Given the description of an element on the screen output the (x, y) to click on. 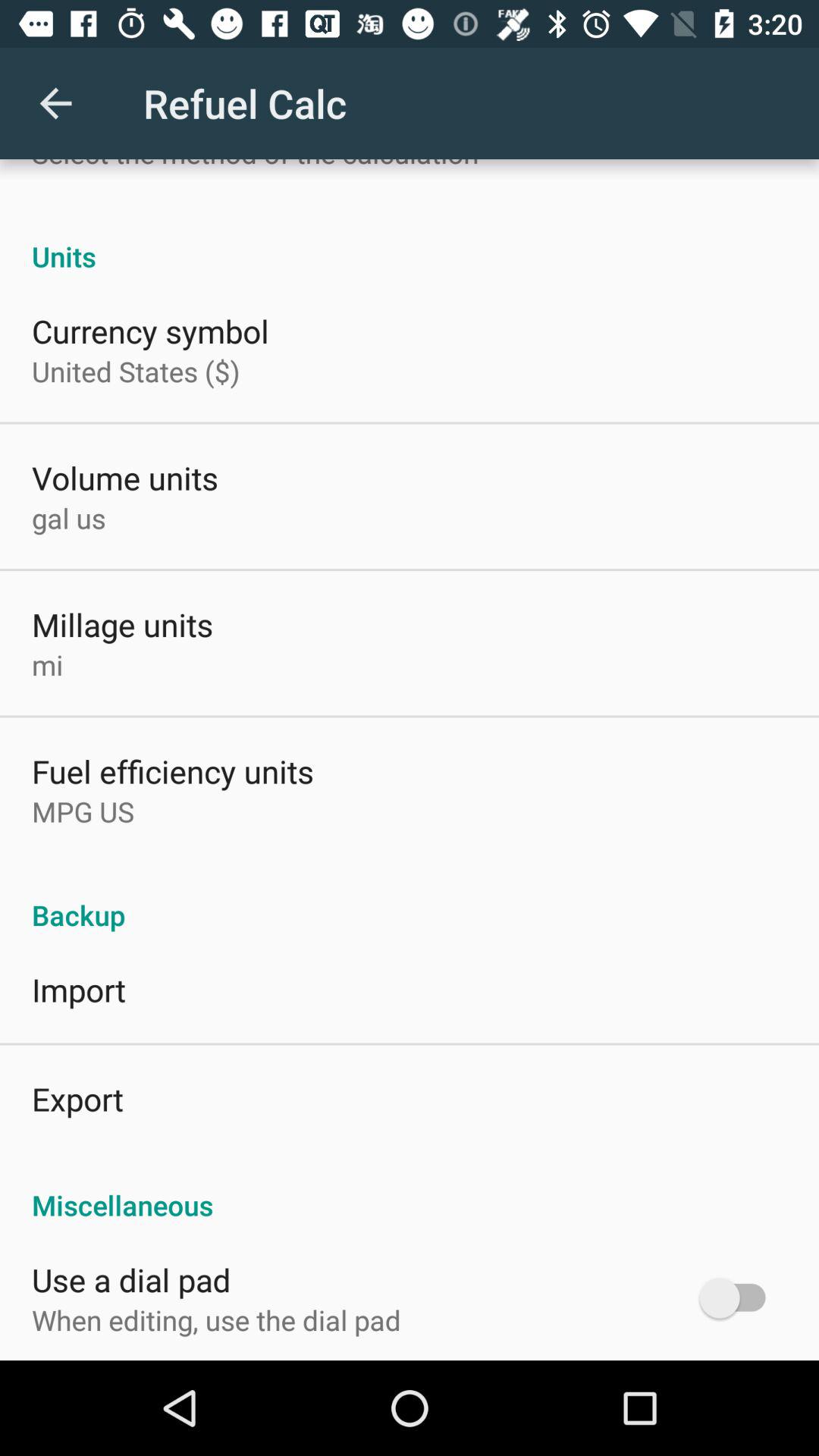
select the app to the left of the refuel calc item (55, 103)
